Given the description of an element on the screen output the (x, y) to click on. 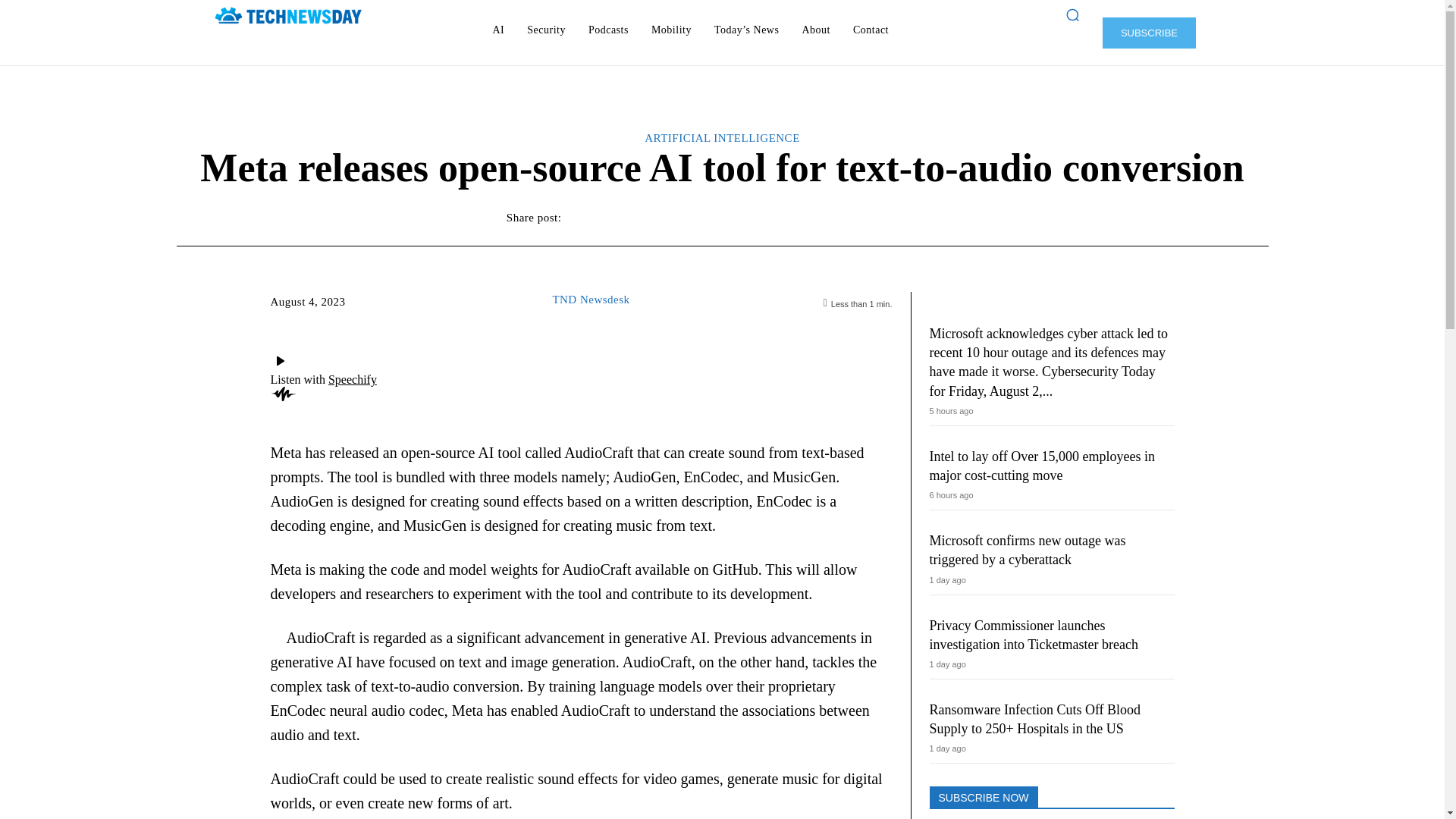
Podcasts (608, 30)
SUBSCRIBE (1148, 31)
Mobility (670, 30)
